Given the description of an element on the screen output the (x, y) to click on. 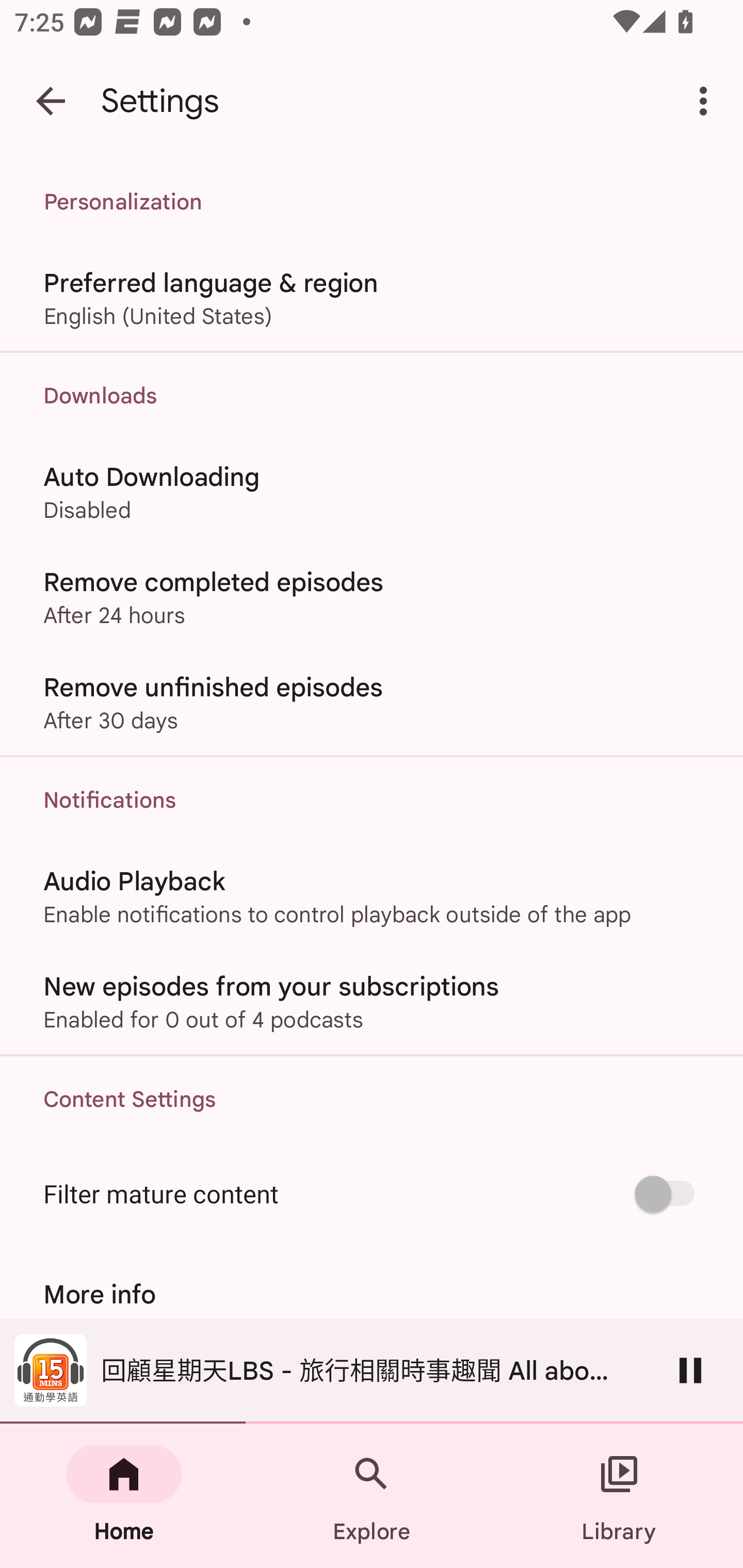
Navigate up (50, 101)
More options (706, 101)
Auto Downloading Disabled (371, 491)
Remove completed episodes After 24 hours (371, 596)
Remove unfinished episodes After 30 days (371, 702)
More info (371, 1294)
Pause (690, 1370)
Explore (371, 1495)
Library (619, 1495)
